Given the description of an element on the screen output the (x, y) to click on. 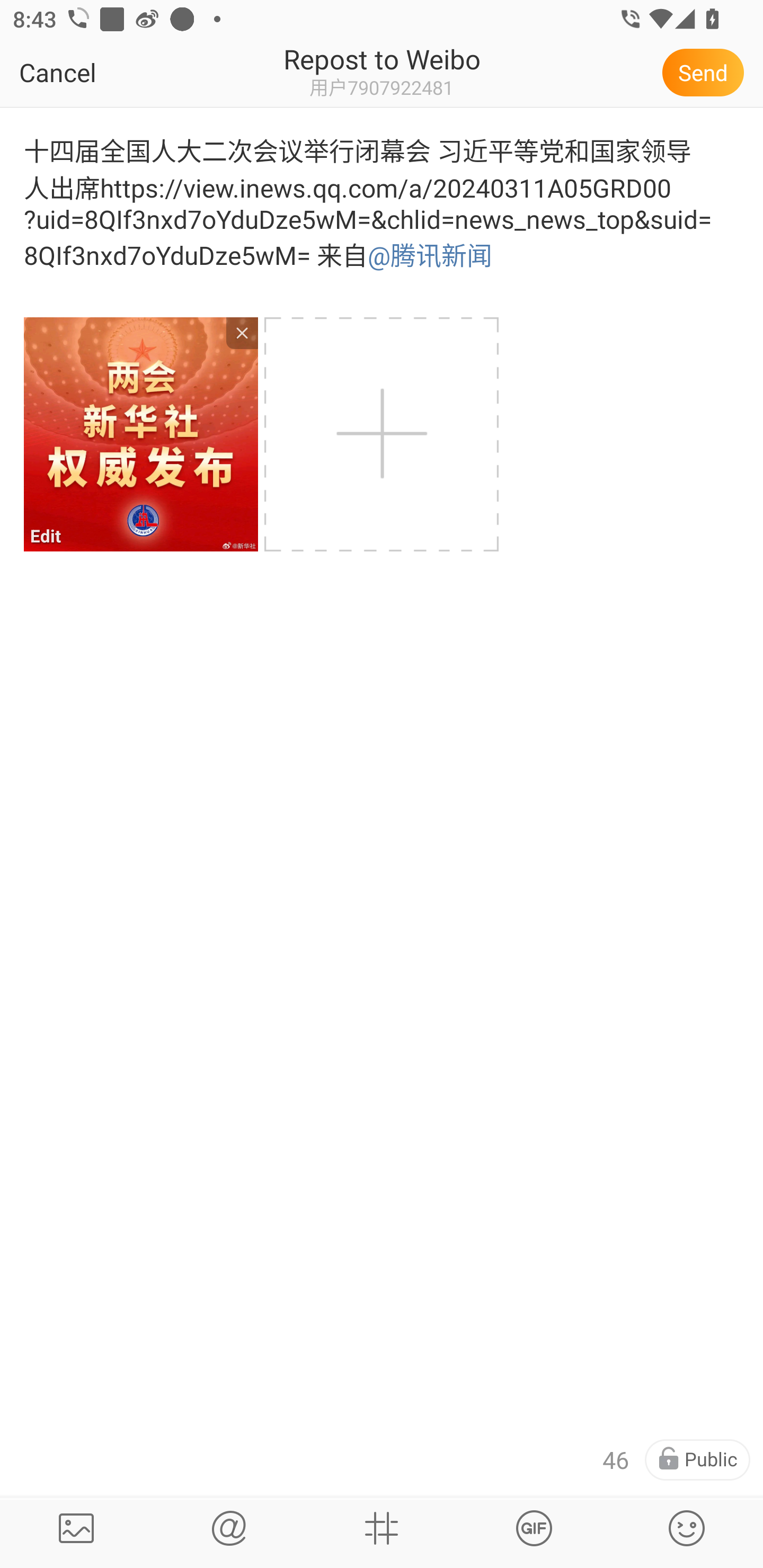
Cancel (99, 71)
Send (706, 71)
Edit (140, 433)
Meyou Public (697, 1459)
46 Number of words available: (615, 1459)
Pictures Upload (76, 1527)
Search (228, 1527)
Topics, movies, books, songs, places, stocks (381, 1527)
Topics, movies, books, songs, places, stocks (533, 1527)
请插入表情 (686, 1527)
